Given the description of an element on the screen output the (x, y) to click on. 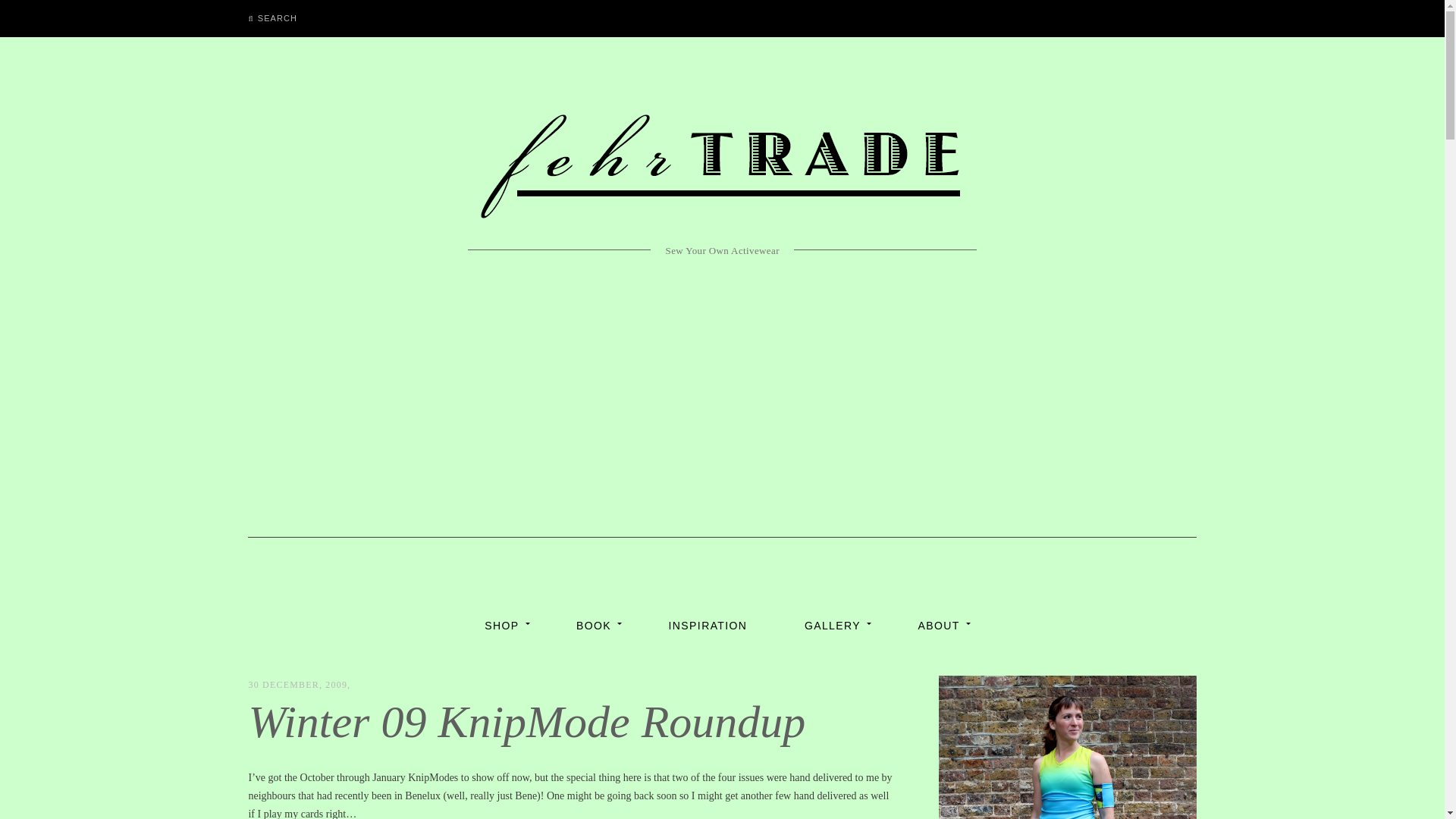
ABOUT (939, 625)
SEARCH (271, 18)
SHOP (501, 625)
30 DECEMBER, 2009 (297, 684)
GALLERY (832, 625)
BOOK (593, 625)
INSPIRATION (708, 625)
